Given the description of an element on the screen output the (x, y) to click on. 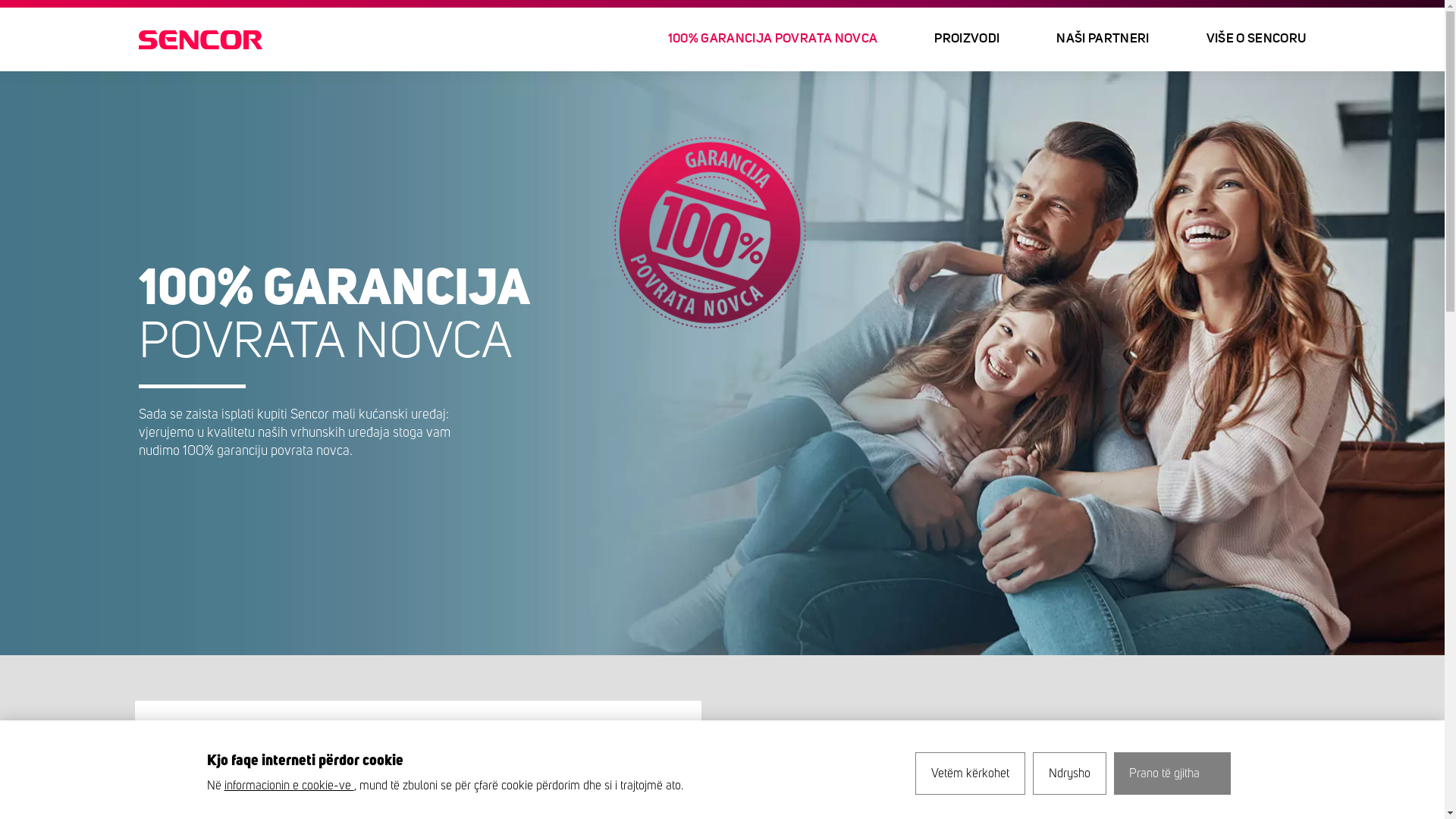
100% GARANCIJA POVRATA NOVCA Element type: text (772, 39)
PROIZVODI Element type: text (967, 39)
informacionin e cookie-ve Element type: text (289, 785)
Ndrysho Element type: text (1069, 773)
